Given the description of an element on the screen output the (x, y) to click on. 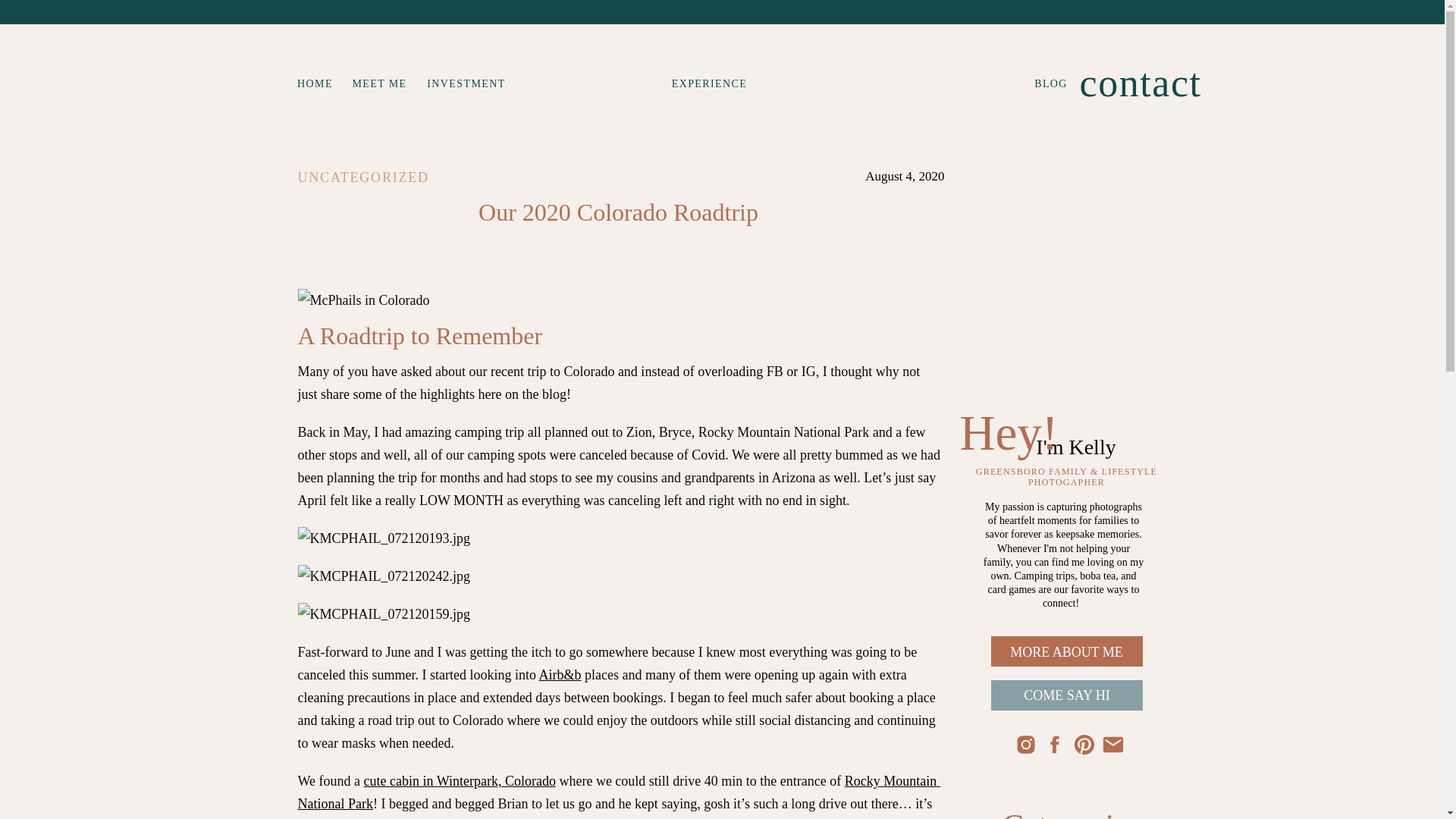
EXPERIENCE (708, 82)
contact (1118, 80)
INVESTMENT (465, 82)
cute cabin in Winterpark, Colorado (460, 780)
MORE ABOUT ME (1067, 651)
BLOG (1050, 82)
MEET ME (378, 82)
COME SAY HI (1067, 695)
UNCATEGORIZED (362, 177)
Rocky Mountain National Park (618, 792)
